Given the description of an element on the screen output the (x, y) to click on. 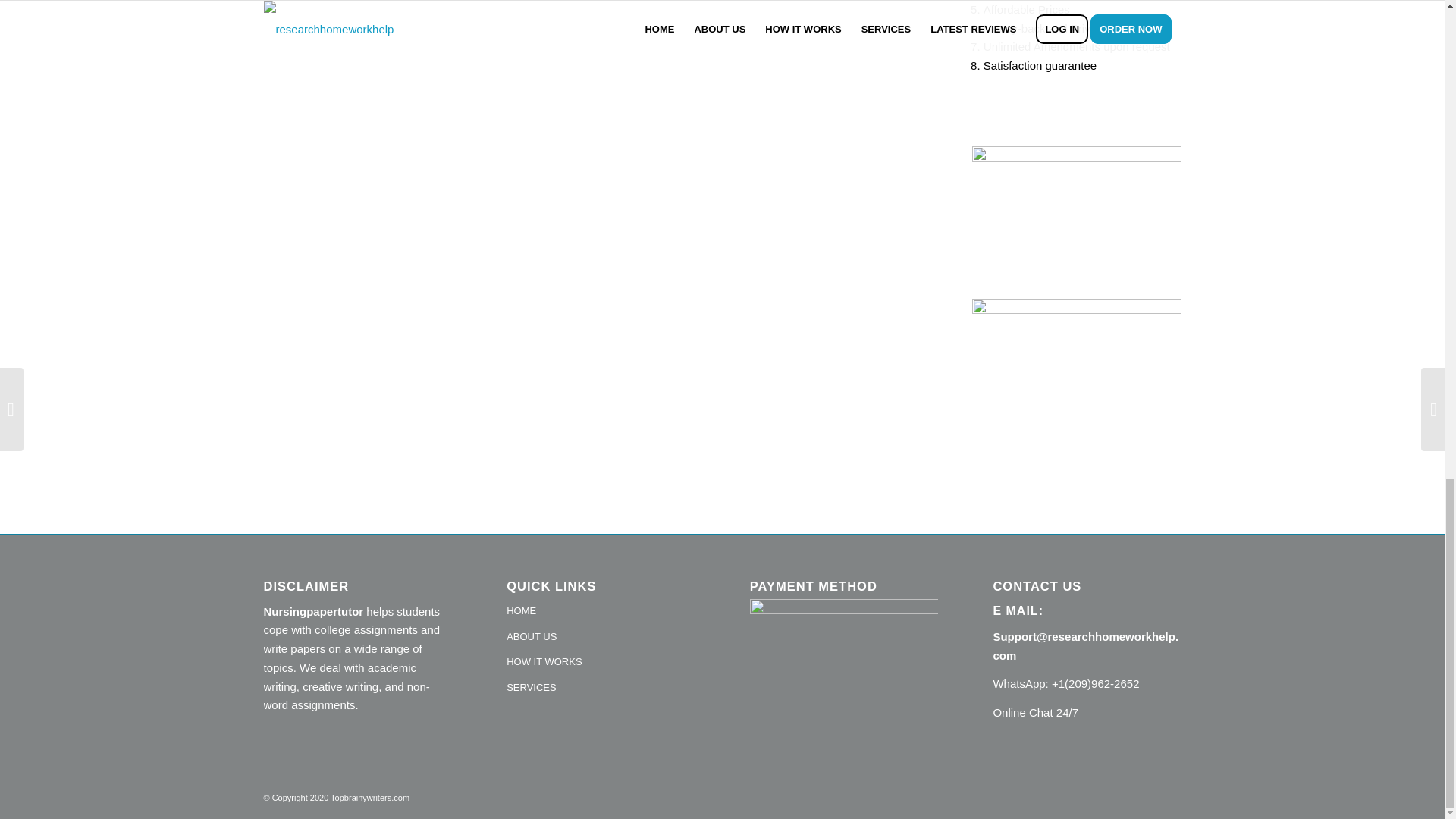
SERVICES (600, 688)
HOME (600, 611)
HOW IT WORKS (600, 662)
ABOUT US (600, 637)
